Given the description of an element on the screen output the (x, y) to click on. 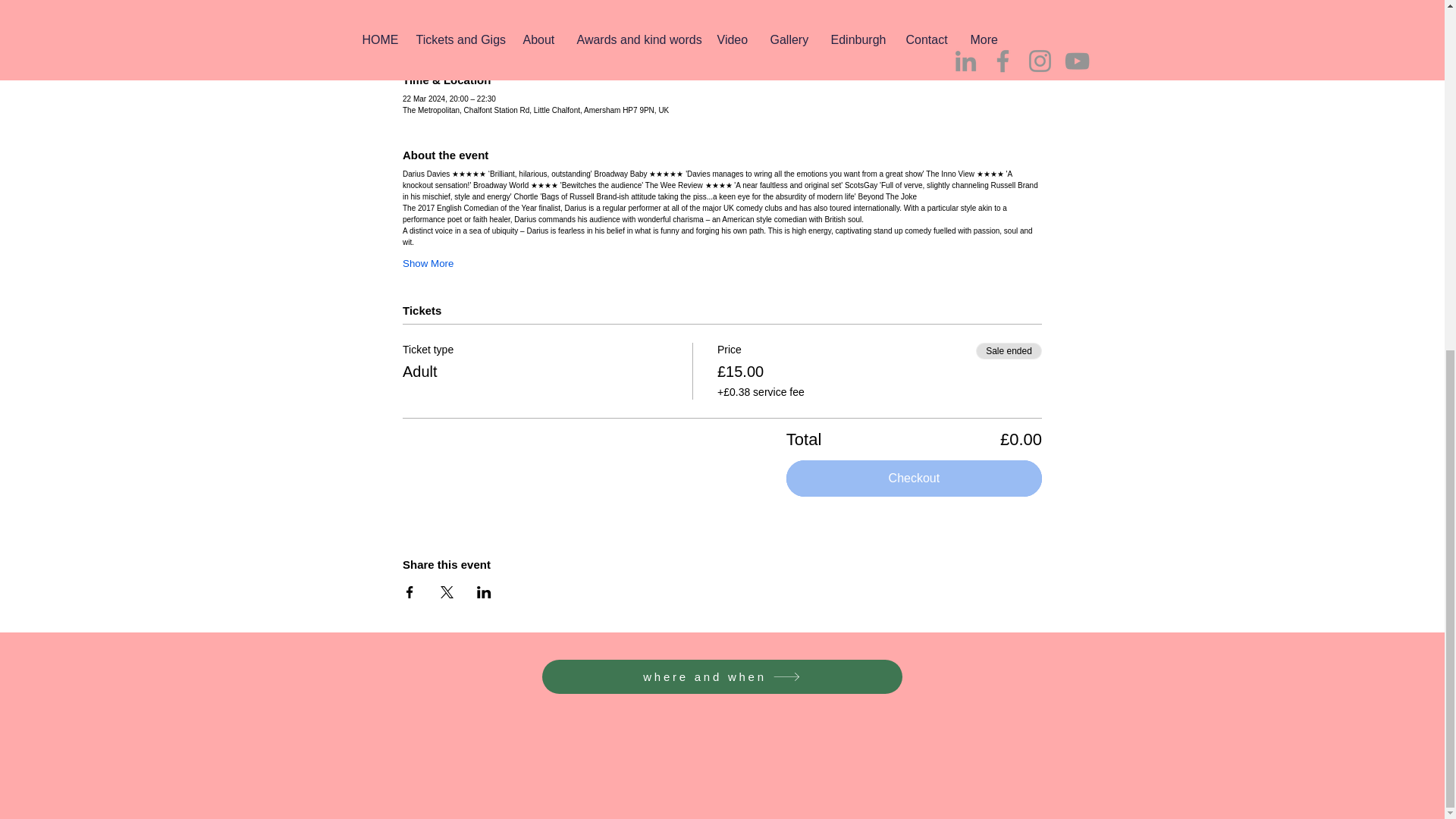
where and when (721, 676)
Show More (427, 263)
Checkout (914, 478)
